Given the description of an element on the screen output the (x, y) to click on. 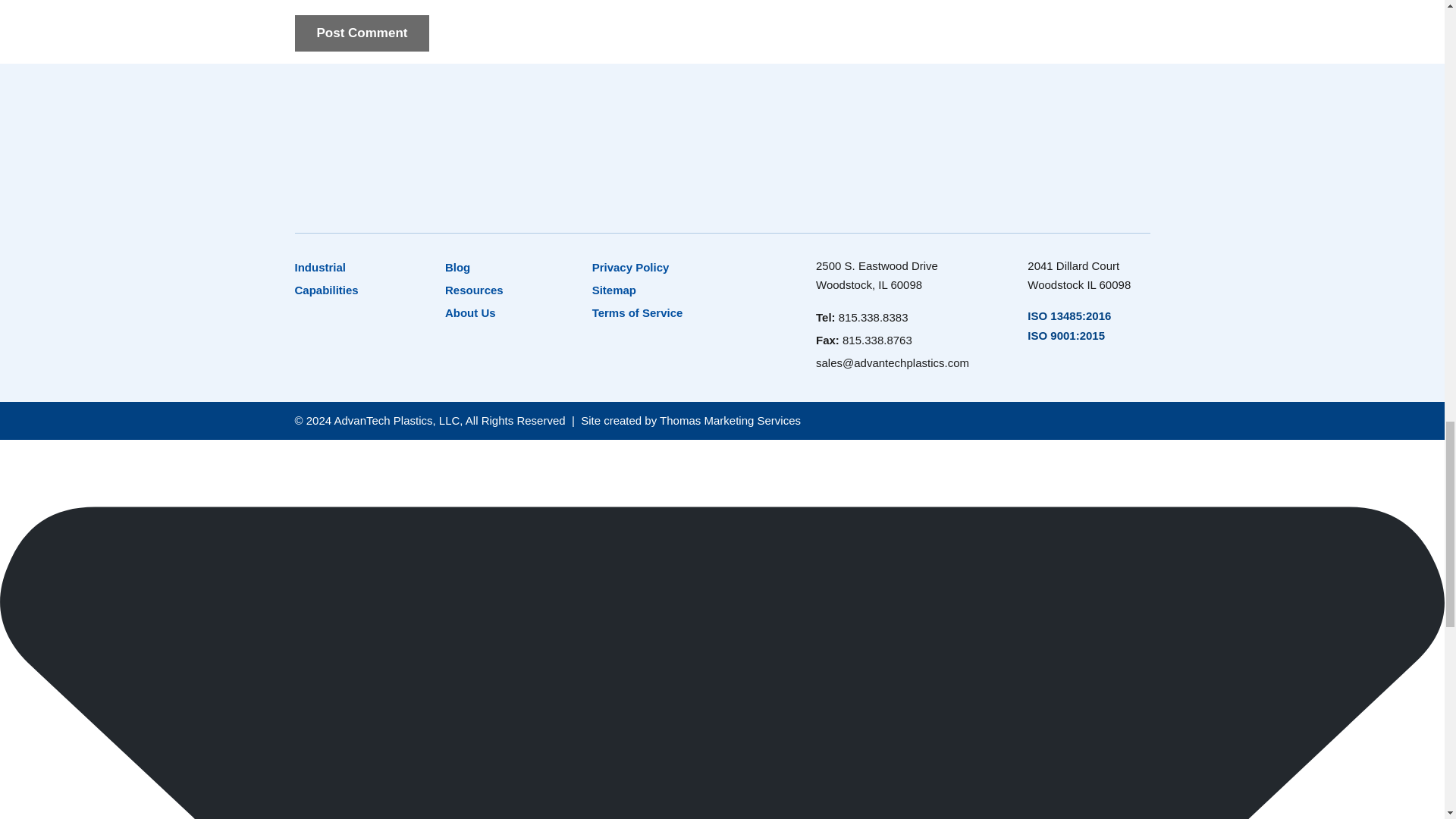
Post Comment (361, 33)
